Given the description of an element on the screen output the (x, y) to click on. 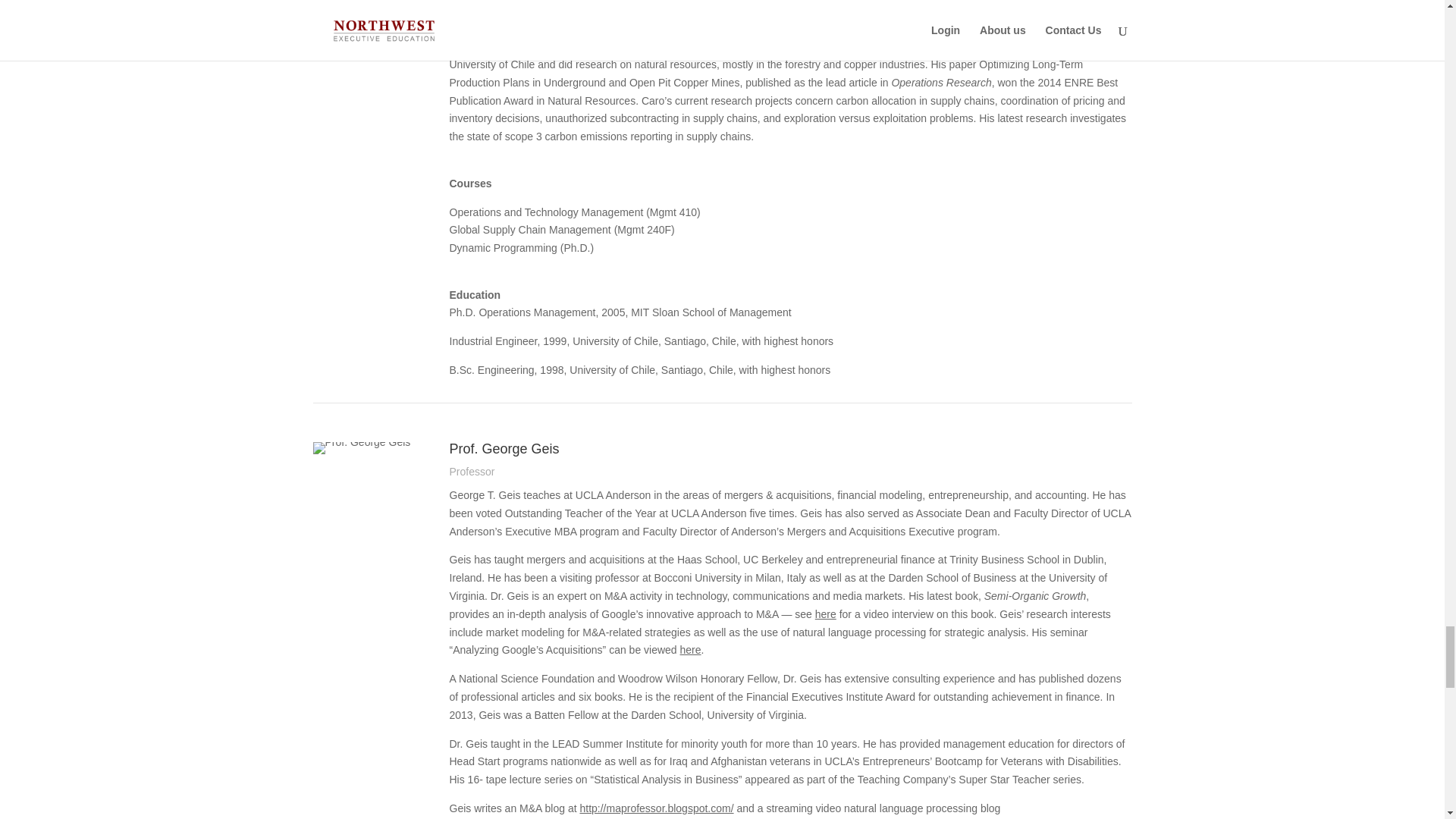
here (825, 613)
here (690, 649)
